Given the description of an element on the screen output the (x, y) to click on. 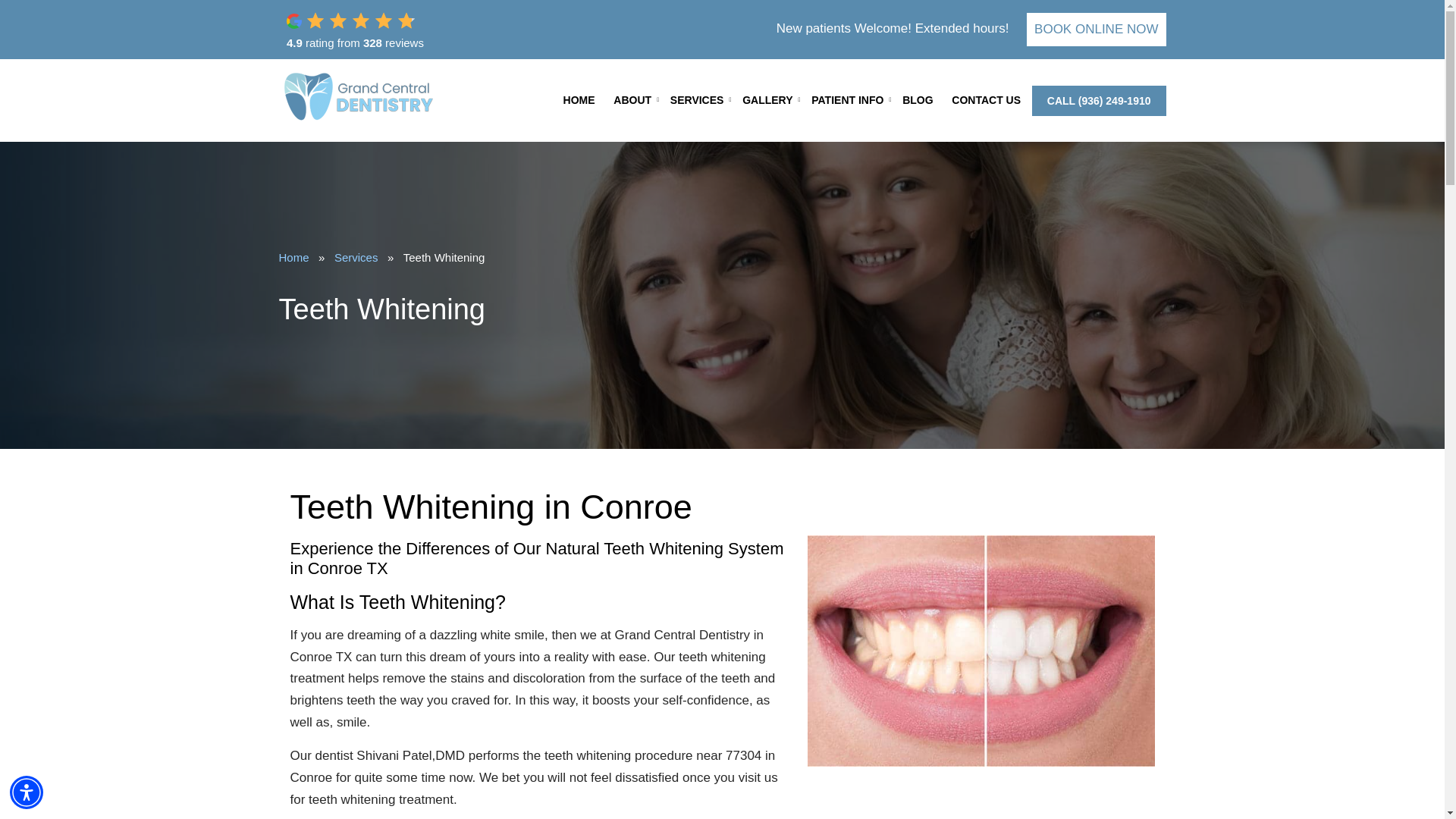
GALLERY (767, 99)
BOOK ONLINE NOW (1096, 29)
BLOG (917, 99)
Accessibility Menu (26, 792)
ABOUT (632, 99)
EmbedSocial Universal Widget (392, 29)
CONTACT US (985, 99)
HOME (579, 99)
PATIENT INFO (847, 99)
SERVICES (697, 99)
